Given the description of an element on the screen output the (x, y) to click on. 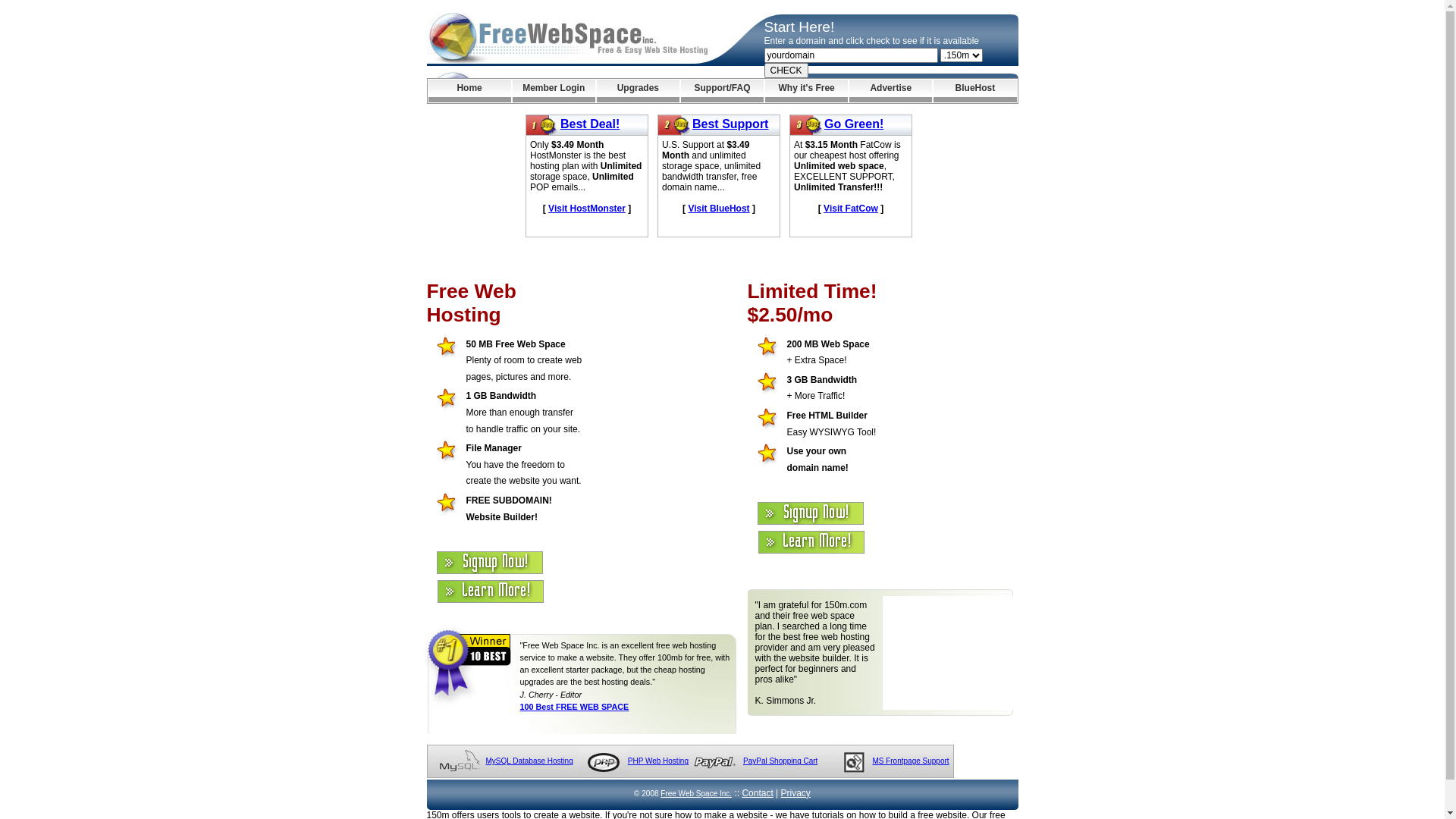
Advertise Element type: text (890, 90)
Contact Element type: text (756, 792)
Why it's Free Element type: text (806, 90)
BlueHost Element type: text (974, 90)
Upgrades Element type: text (637, 90)
Support/FAQ Element type: text (721, 90)
Privacy Element type: text (795, 792)
Member Login Element type: text (553, 90)
MS Frontpage Support Element type: text (910, 760)
PayPal Shopping Cart Element type: text (780, 760)
Home Element type: text (468, 90)
Free Web Space Inc. Element type: text (695, 793)
PHP Web Hosting Element type: text (657, 760)
CHECK Element type: text (786, 70)
100 Best FREE WEB SPACE Element type: text (574, 706)
MySQL Database Hosting Element type: text (528, 760)
